Given the description of an element on the screen output the (x, y) to click on. 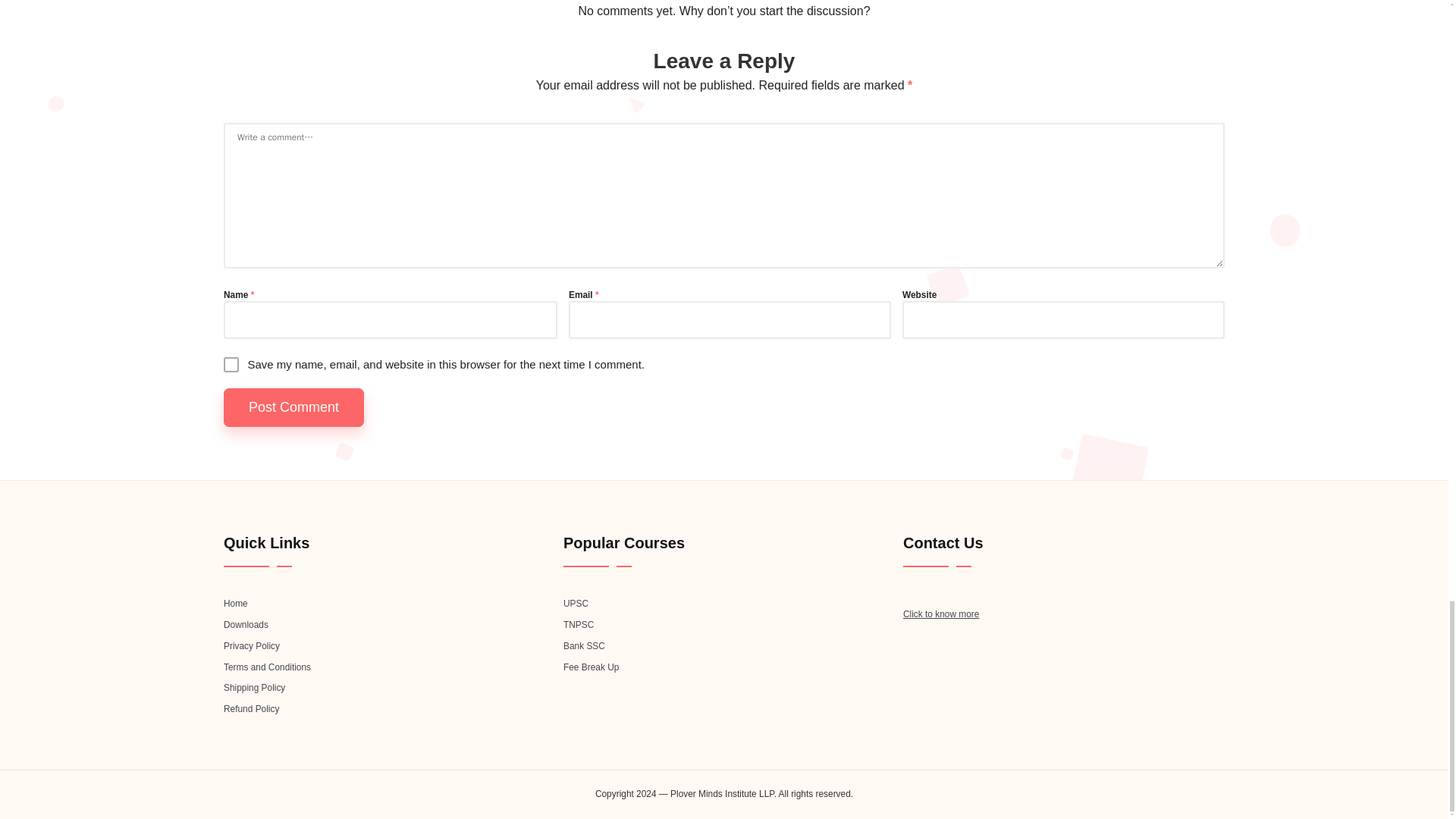
Post Comment (294, 407)
Post Comment (294, 407)
yes (231, 364)
